Given the description of an element on the screen output the (x, y) to click on. 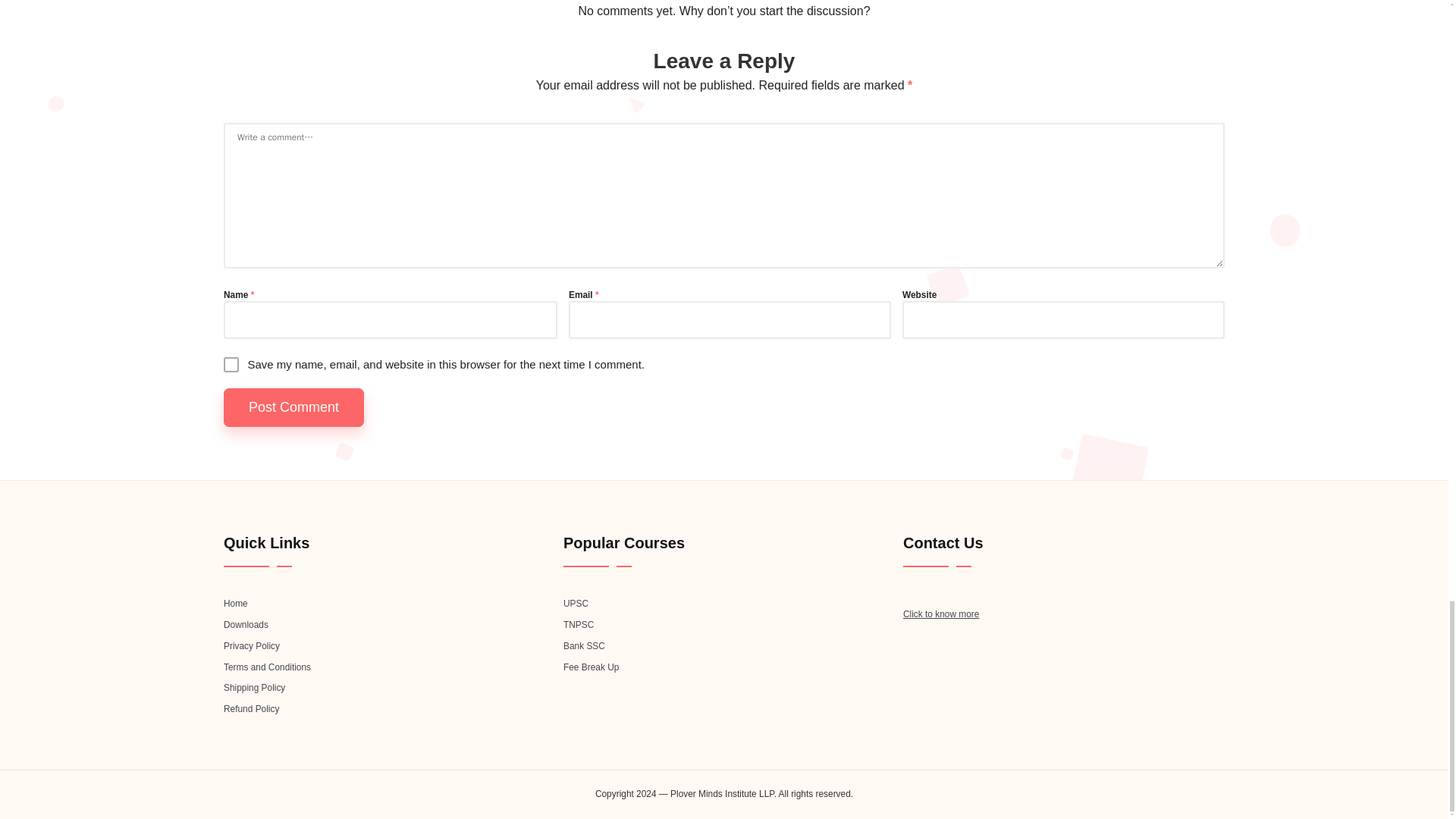
Post Comment (294, 407)
Post Comment (294, 407)
yes (231, 364)
